Given the description of an element on the screen output the (x, y) to click on. 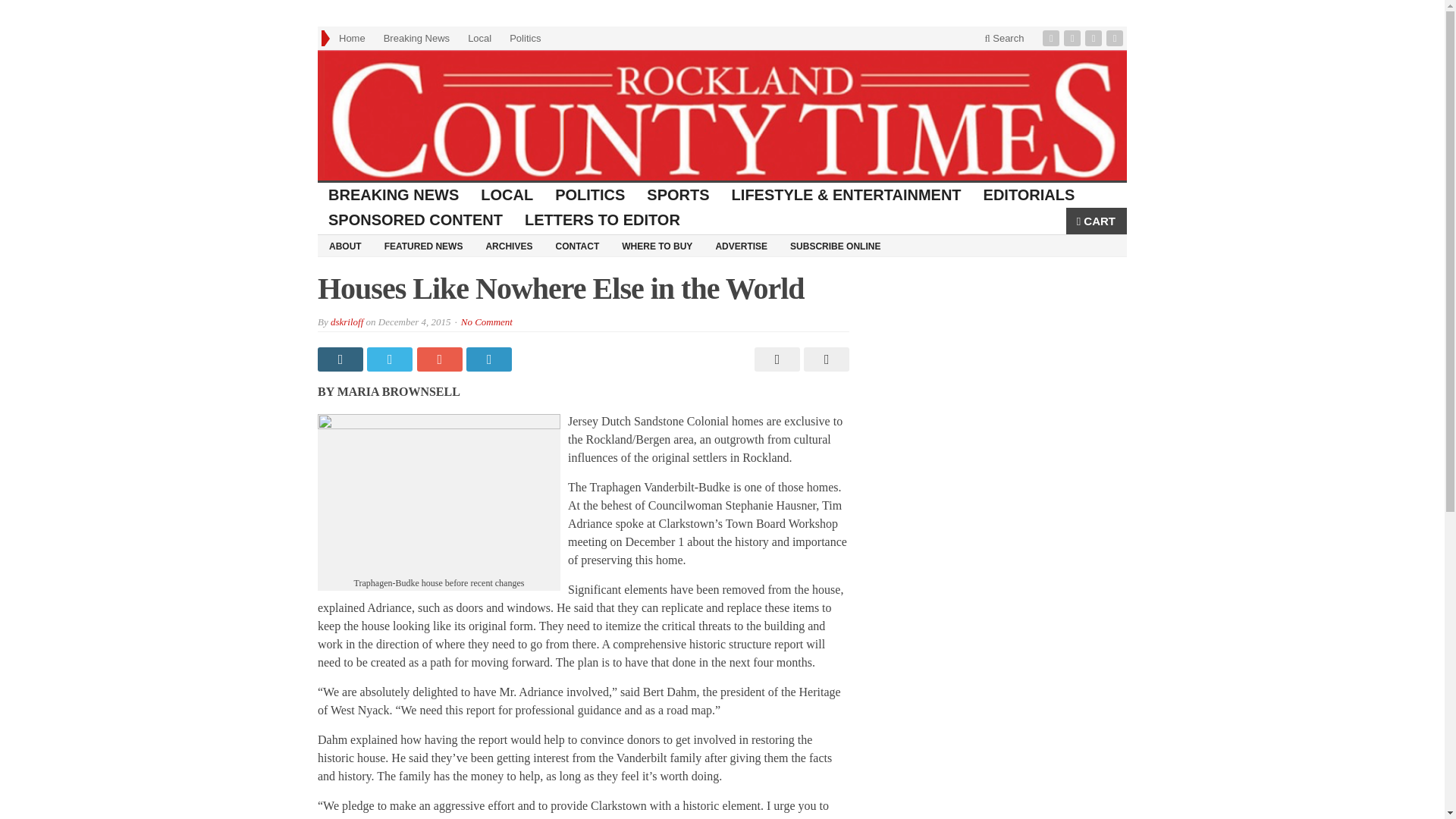
ADVERTISE (740, 245)
Search (1003, 37)
Print This Post (775, 359)
Share on Twitter (391, 359)
CONTACT (576, 245)
ARCHIVES (508, 245)
BREAKING NEWS (393, 195)
SPORTS (678, 195)
Breaking News (416, 37)
EDITORIALS (1029, 195)
